Given the description of an element on the screen output the (x, y) to click on. 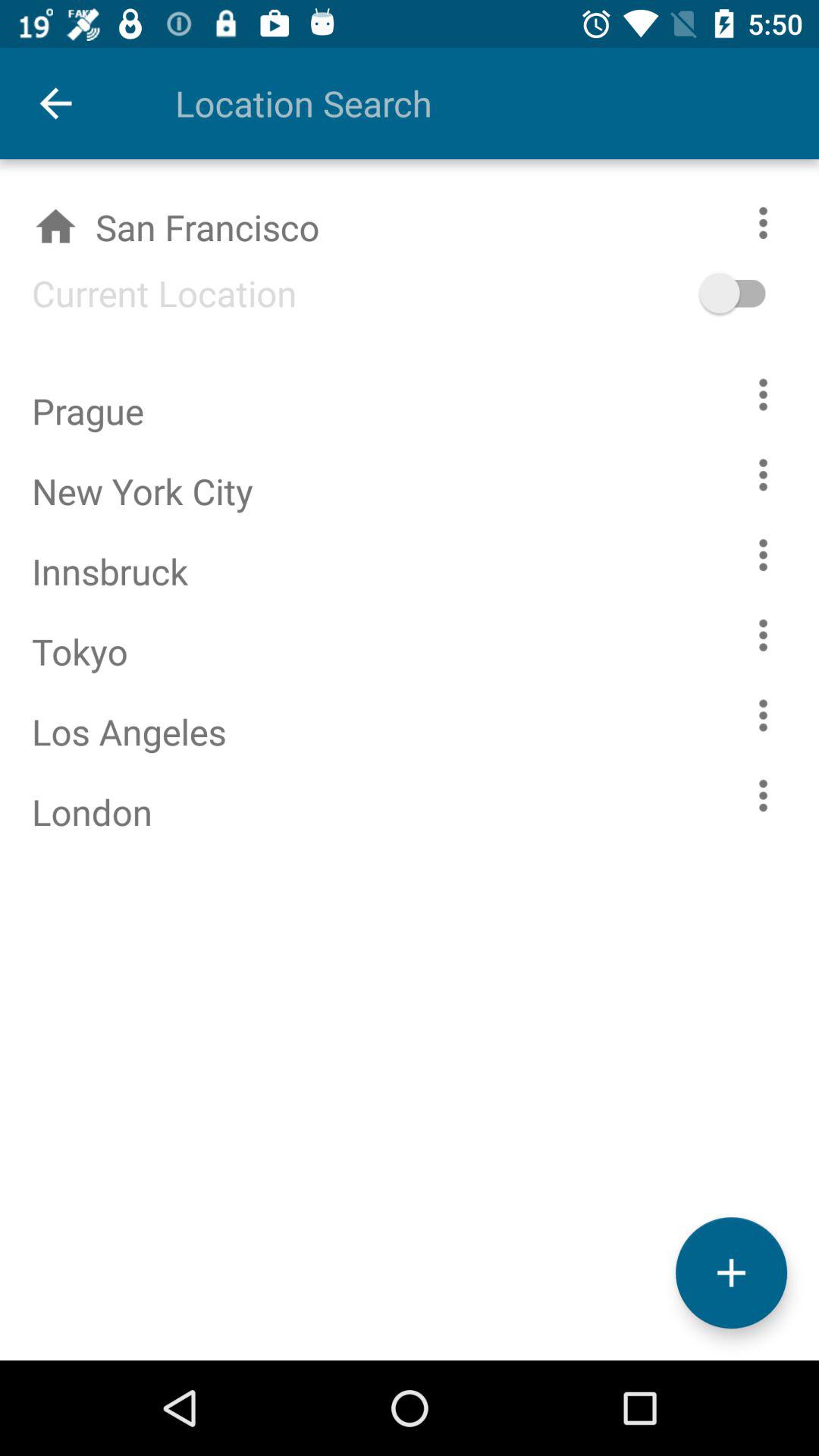
select new york city (763, 474)
